Given the description of an element on the screen output the (x, y) to click on. 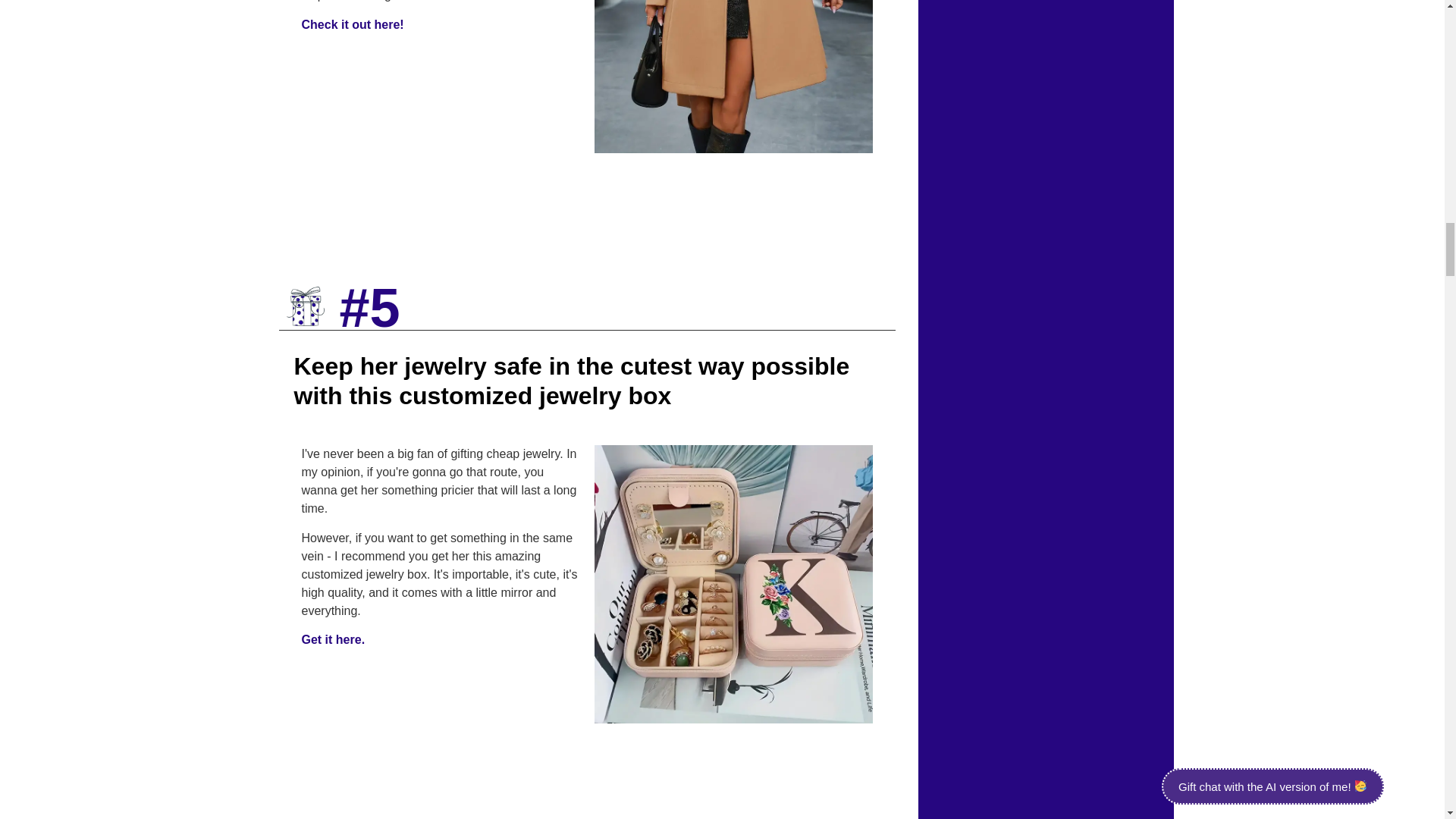
Check it out here! (352, 24)
Get it here. (333, 639)
